Given the description of an element on the screen output the (x, y) to click on. 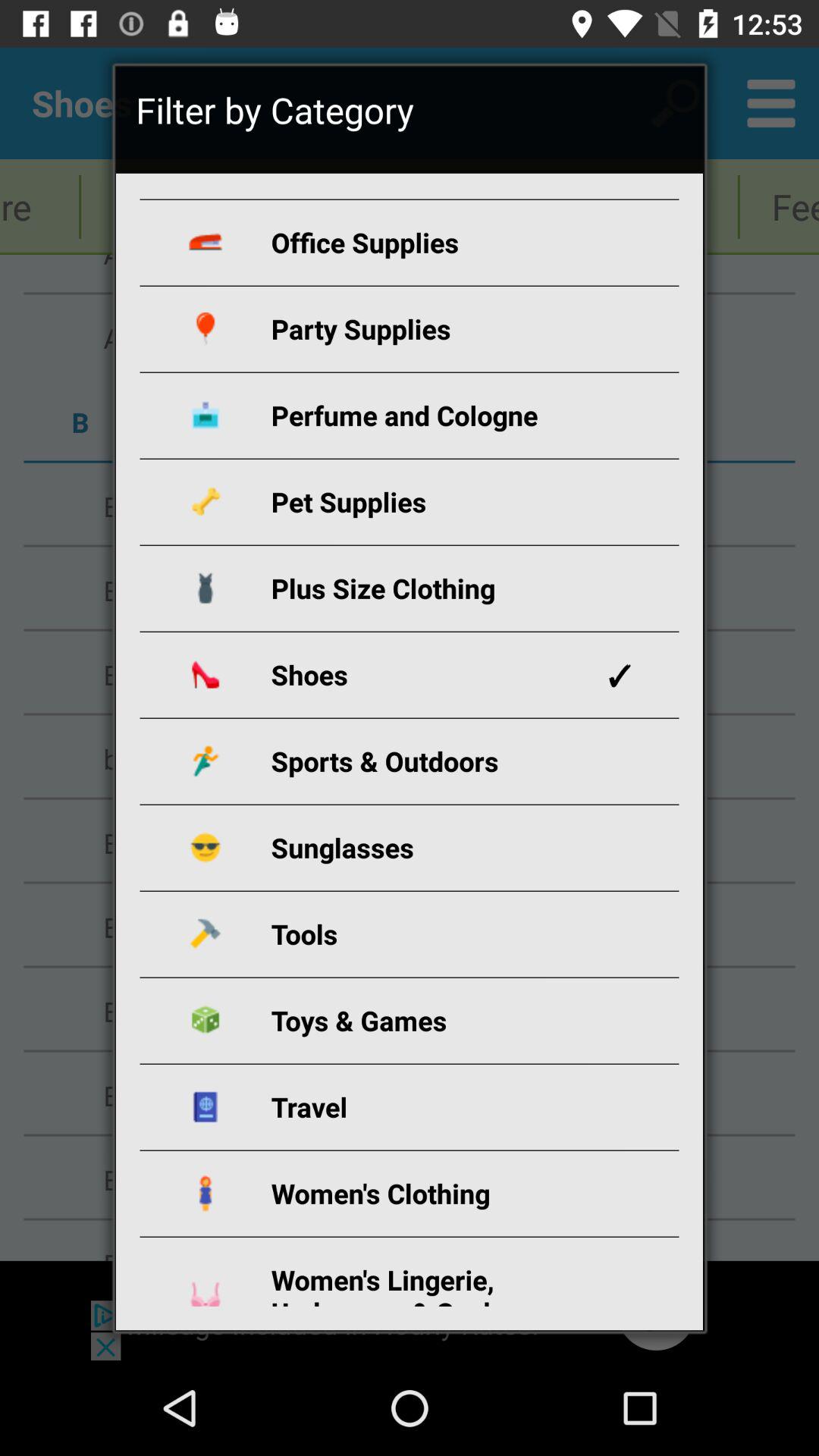
choose the pet supplies app (427, 501)
